Given the description of an element on the screen output the (x, y) to click on. 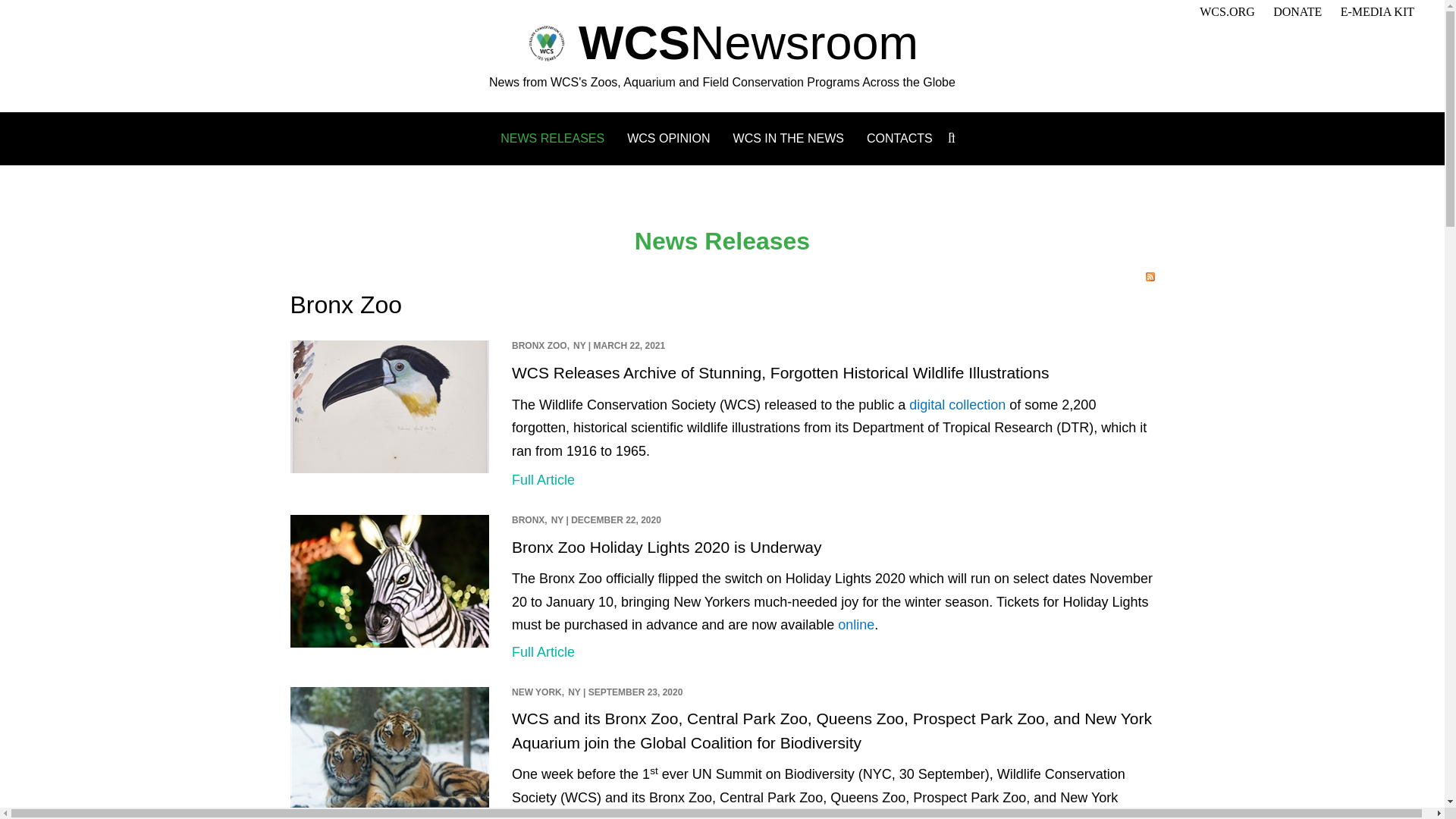
digital collection (957, 404)
NEWS RELEASES (552, 138)
WCS.ORG (1226, 11)
online (856, 624)
Full Article (543, 652)
Bronx Zoo Holiday Lights 2020 is Underway (667, 547)
E-MEDIA KIT (1376, 11)
Full Article (543, 479)
CONTACTS (899, 138)
